Given the description of an element on the screen output the (x, y) to click on. 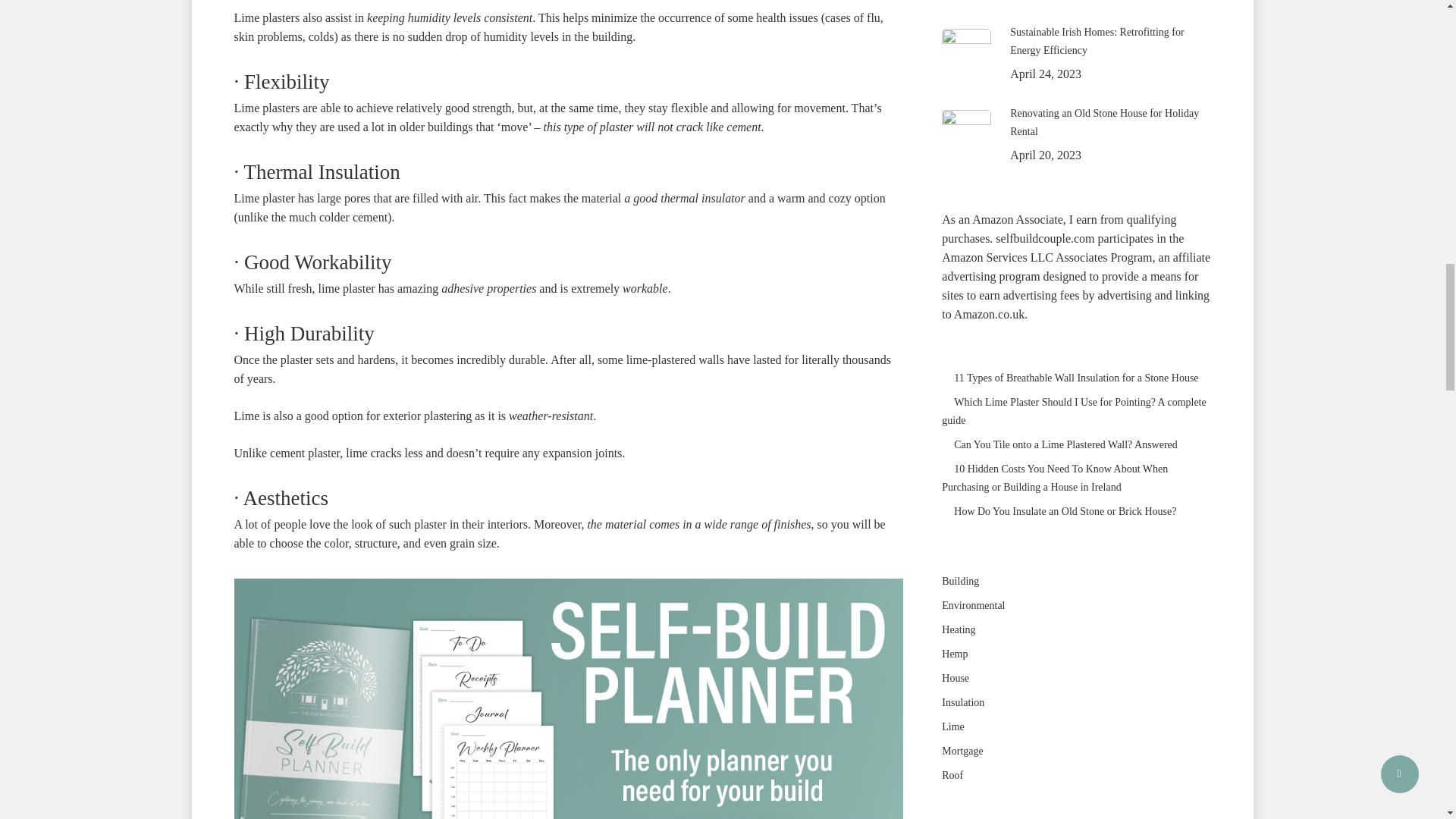
Hemp (1075, 654)
Heating (1075, 629)
Building (1075, 581)
Environmental (1075, 606)
Can You Tile onto a Lime Plastered Wall? Answered (1075, 444)
How Do You Insulate an Old Stone or Brick House? (1075, 511)
